Given the description of an element on the screen output the (x, y) to click on. 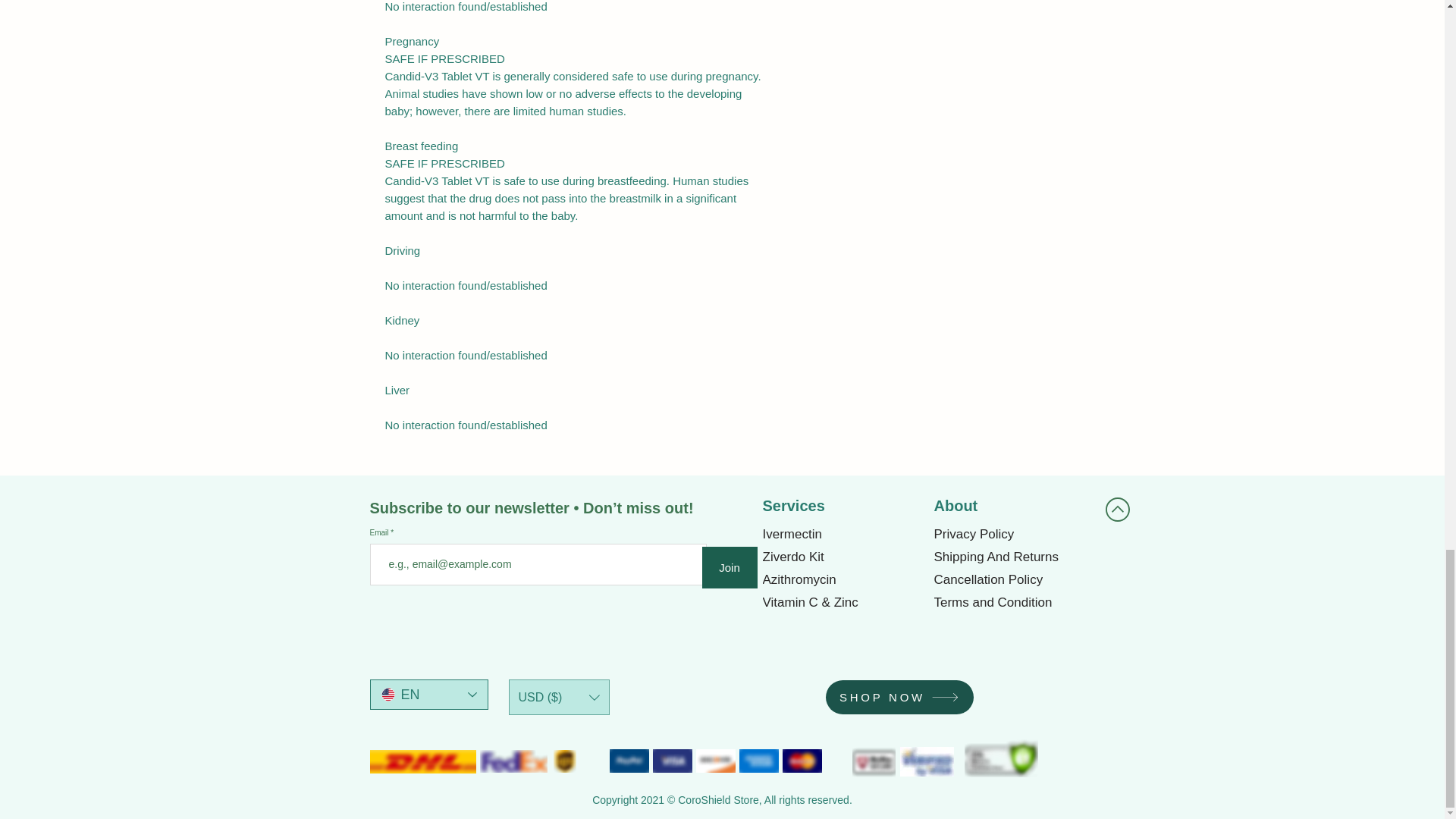
Terms and Condition (1012, 602)
Cancellation Policy (1012, 579)
Ziverdo Kit (841, 557)
Ivermectin (841, 534)
Join (729, 567)
SHOP NOW (898, 697)
Privacy Policy (1012, 534)
Azithromycin (841, 579)
Shipping And Returns (1012, 557)
